Given the description of an element on the screen output the (x, y) to click on. 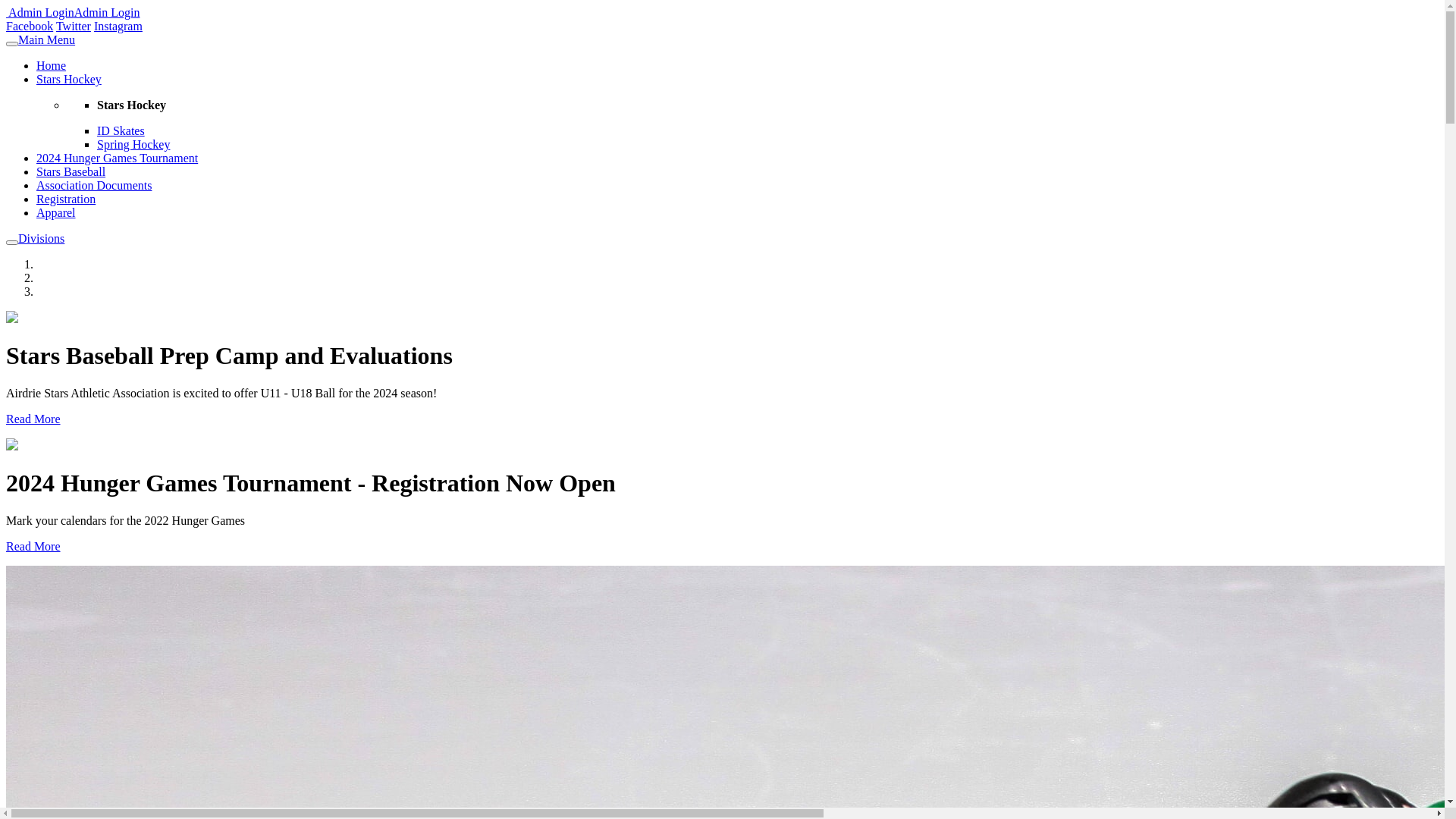
Main Menu Element type: text (46, 39)
Registration Element type: text (65, 198)
2024 Hunger Games Tournament Element type: text (116, 157)
 Admin LoginAdmin Login Element type: text (72, 12)
Stars Baseball Element type: text (70, 171)
Spring Hockey Element type: text (133, 144)
Apparel Element type: text (55, 212)
Home Element type: text (50, 65)
Stars Hockey Element type: text (68, 78)
Association Documents Element type: text (93, 184)
Read More Element type: text (33, 418)
Twitter Element type: text (73, 25)
Divisions Element type: text (41, 238)
Facebook Element type: text (29, 25)
ID Skates Element type: text (120, 130)
Read More Element type: text (33, 545)
Instagram Element type: text (118, 25)
